Given the description of an element on the screen output the (x, y) to click on. 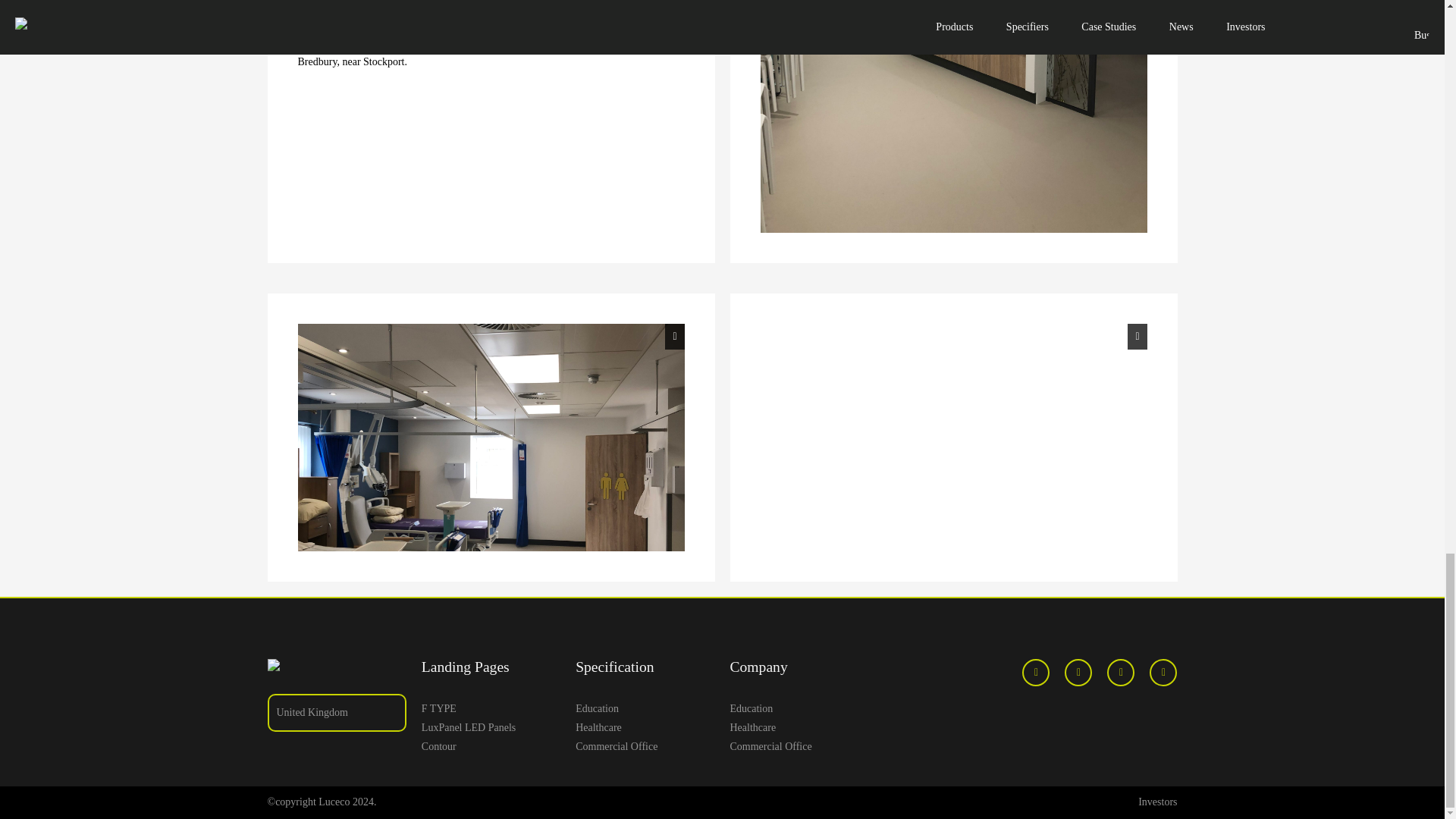
Contour (491, 746)
LuxPanel LED Panels (491, 727)
Healthcare (798, 727)
Education (798, 708)
United Kingdom (336, 711)
F TYPE (491, 708)
Education (644, 708)
Commercial Office (644, 746)
Healthcare (644, 727)
Investors (1157, 801)
Commercial Office (798, 746)
